Given the description of an element on the screen output the (x, y) to click on. 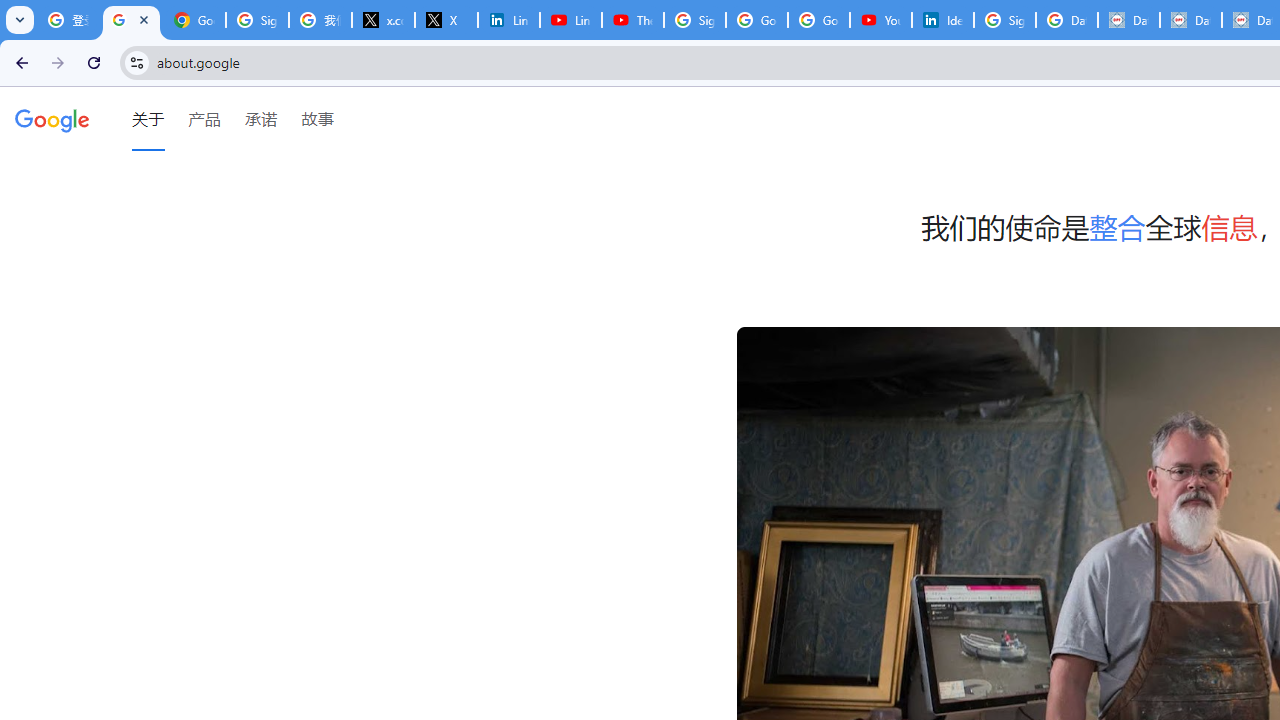
Sign in - Google Accounts (257, 20)
